Given the description of an element on the screen output the (x, y) to click on. 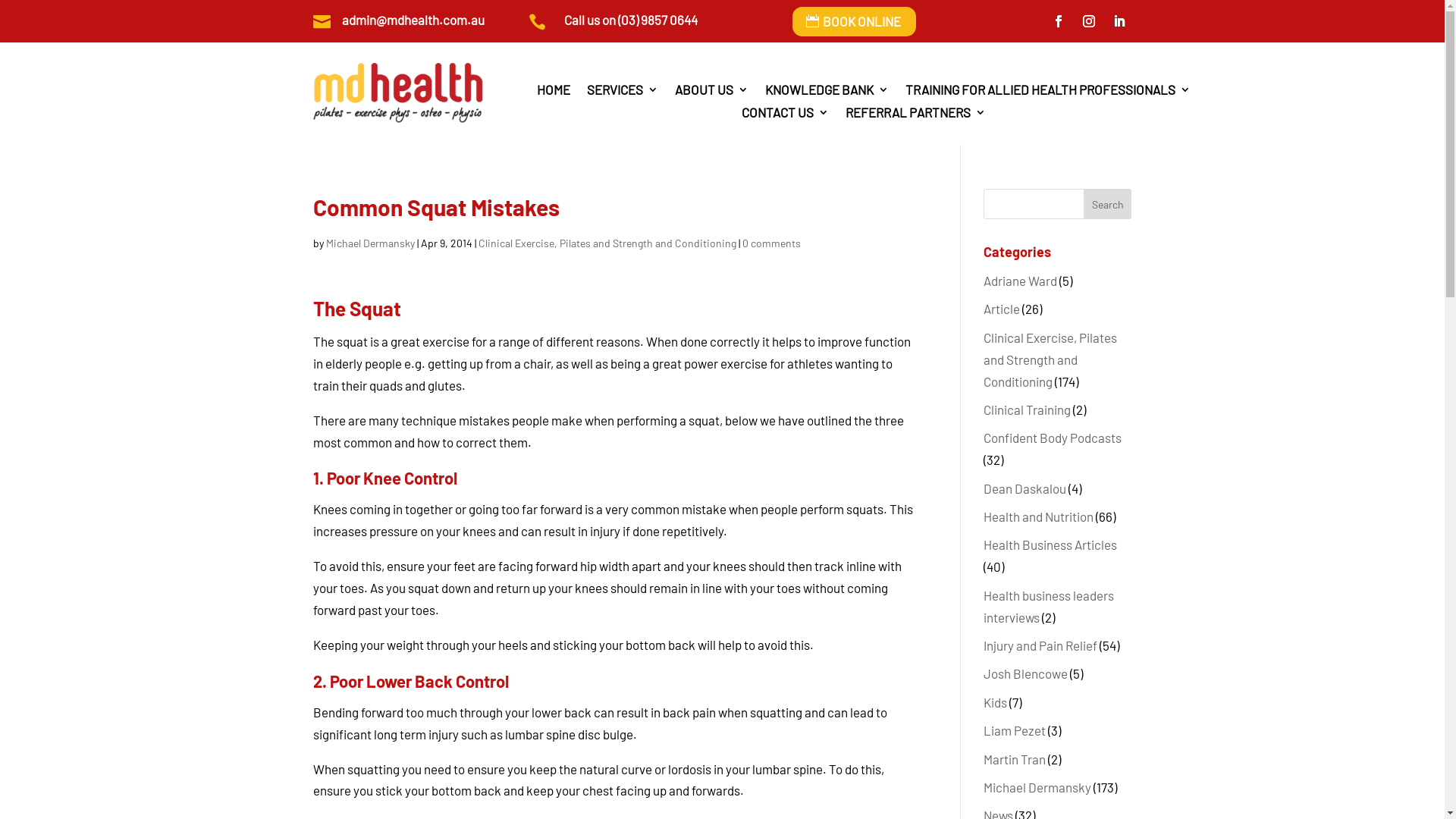
admin@mdhealth.com.au Element type: text (412, 19)
Follow on Instagram Element type: hover (1088, 21)
Call us on (03) 9857 0644 Element type: text (630, 19)
Liam Pezet Element type: text (1014, 729)
0 comments Element type: text (770, 242)
KNOWLEDGE BANK Element type: text (826, 92)
Clinical Exercise, Pilates and Strength and Conditioning Element type: text (1050, 359)
Adriane Ward Element type: text (1020, 280)
Health business leaders interviews Element type: text (1048, 605)
SERVICES Element type: text (622, 92)
Article Element type: text (1001, 308)
Confident Body Podcasts Element type: text (1052, 437)
Follow on LinkedIn Element type: hover (1119, 21)
Follow on Facebook Element type: hover (1058, 21)
Michael Dermansky Element type: text (370, 242)
Kids Element type: text (995, 701)
Josh Blencowe Element type: text (1025, 672)
BOOK ONLINE Element type: text (854, 21)
Clinical Training Element type: text (1026, 409)
HOME Element type: text (553, 92)
Search Element type: text (1107, 203)
Health and Nutrition Element type: text (1038, 516)
MD Health new Element type: hover (397, 92)
Martin Tran Element type: text (1014, 758)
Injury and Pain Relief Element type: text (1040, 644)
CONTACT US Element type: text (784, 114)
TRAINING FOR ALLIED HEALTH PROFESSIONALS Element type: text (1047, 92)
REFERRAL PARTNERS Element type: text (915, 114)
ABOUT US Element type: text (711, 92)
Michael Dermansky Element type: text (1037, 786)
Health Business Articles Element type: text (1050, 544)
Clinical Exercise, Pilates and Strength and Conditioning Element type: text (606, 242)
Dean Daskalou Element type: text (1024, 487)
